Given the description of an element on the screen output the (x, y) to click on. 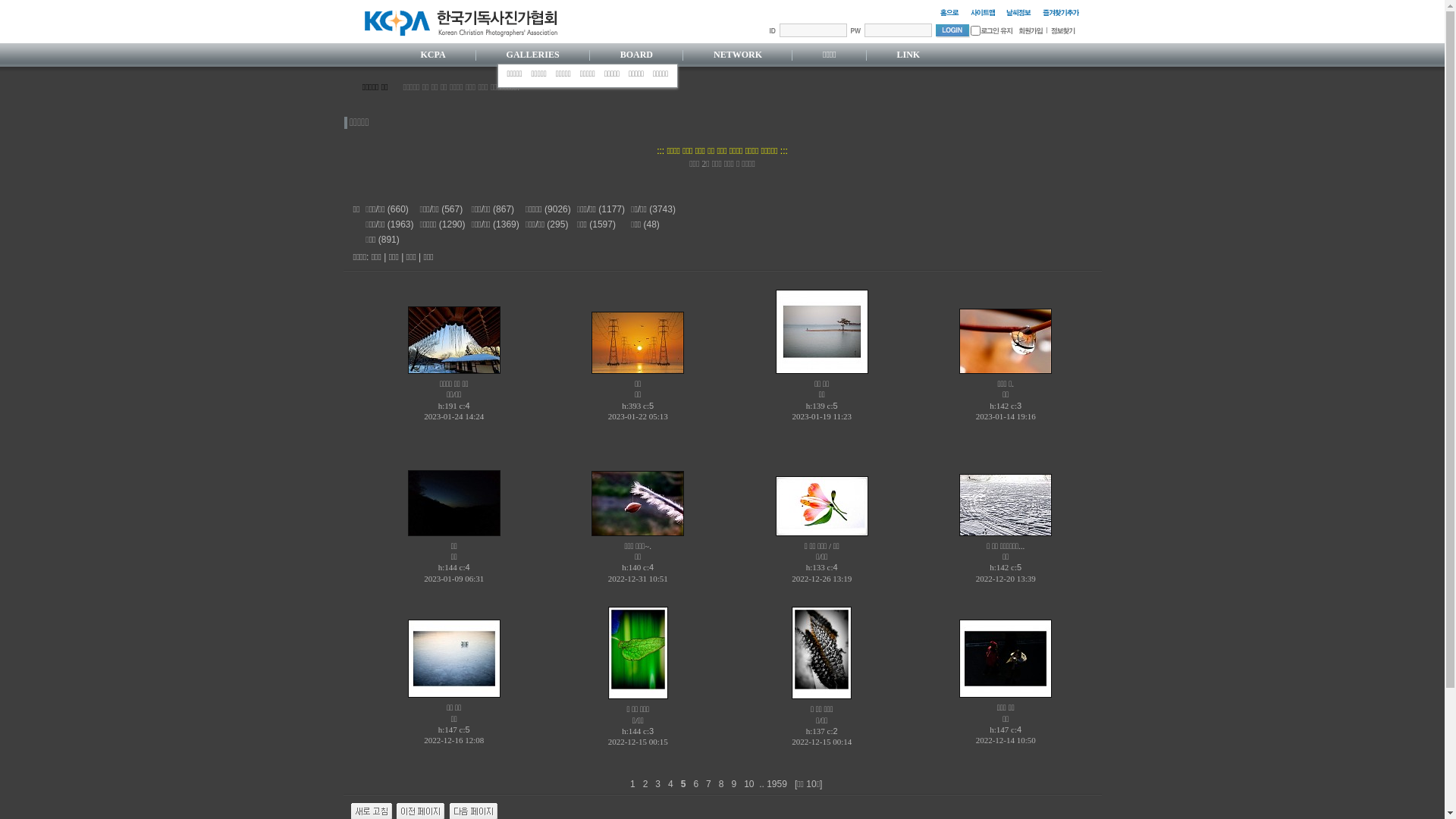
 2   Element type: text (646, 783)
NETWORK Element type: text (737, 54)
1 Element type: text (975, 30)
 1   Element type: text (633, 783)
 3   Element type: text (658, 783)
 10   Element type: text (750, 783)
KCPA Element type: text (432, 54)
LINK Element type: text (908, 54)
 8   Element type: text (721, 783)
GALLERIES Element type: text (532, 54)
 7   Element type: text (709, 783)
BOARD Element type: text (636, 54)
 4   Element type: text (671, 783)
 1959   Element type: text (778, 783)
 6   Element type: text (696, 783)
 9   Element type: text (734, 783)
